Given the description of an element on the screen output the (x, y) to click on. 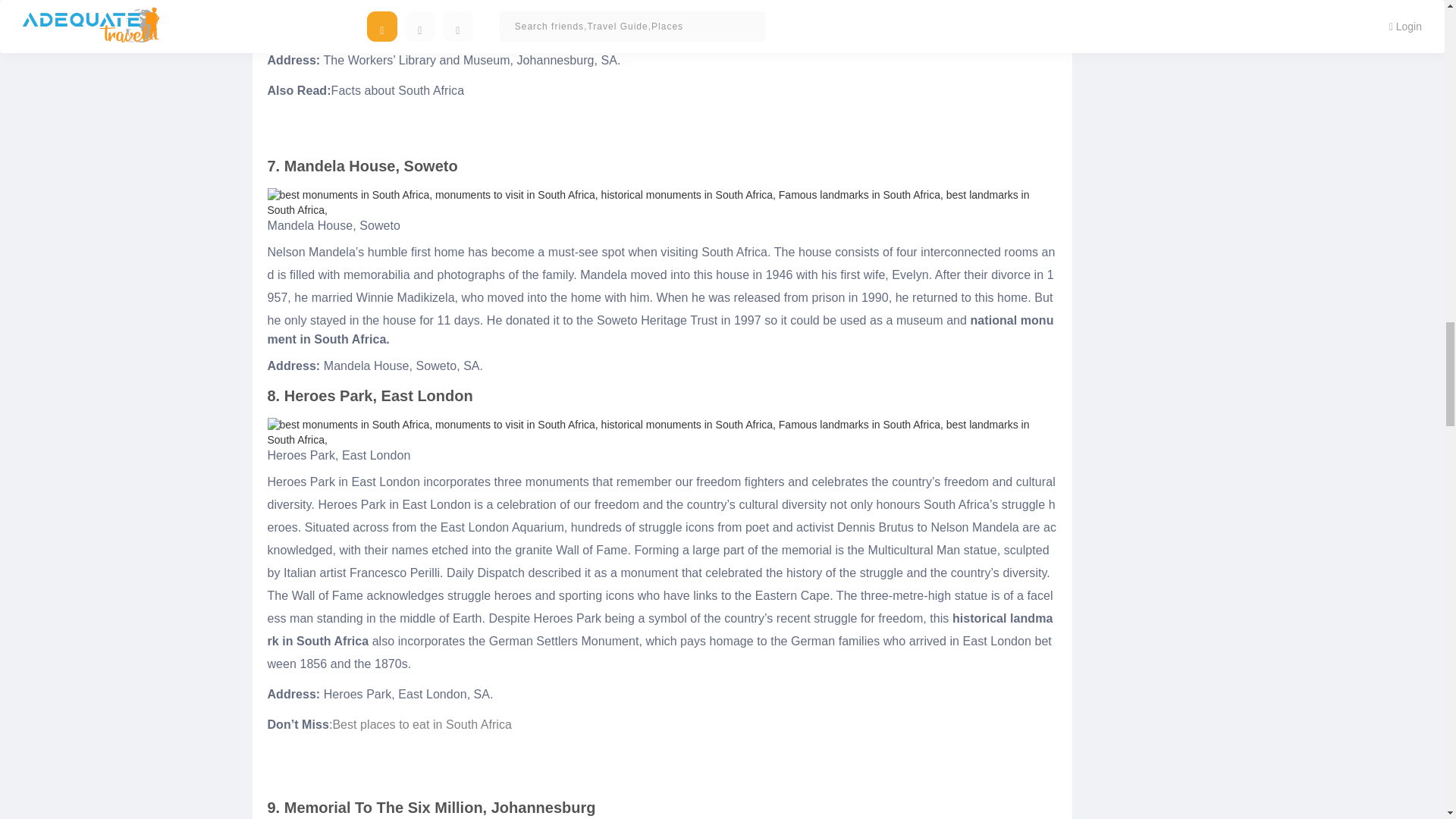
Best places to eat in South Africa (421, 723)
Facts about South Africa (397, 90)
